Given the description of an element on the screen output the (x, y) to click on. 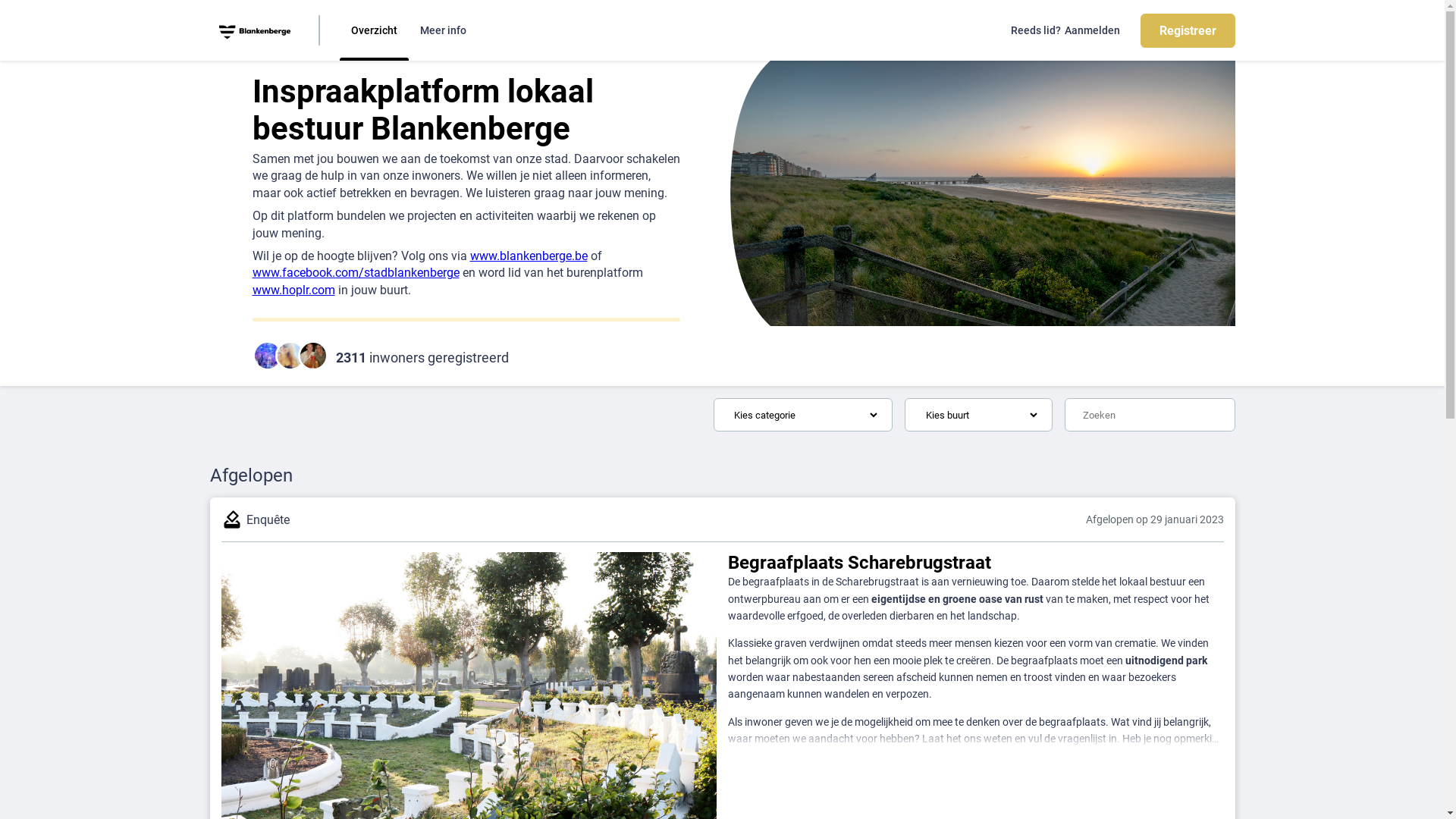
www.facebook.com/stadblankenberge Element type: text (354, 272)
Begraafplaats Scharebrugstraat Element type: text (975, 562)
www.hoplr.com Element type: text (292, 289)
Registreer Element type: text (1187, 30)
www.blankenberge.be Element type: text (528, 255)
Reeds lid?
Aanmelden Element type: text (1065, 30)
Overzicht Element type: text (373, 30)
Meer info Element type: text (442, 30)
